Given the description of an element on the screen output the (x, y) to click on. 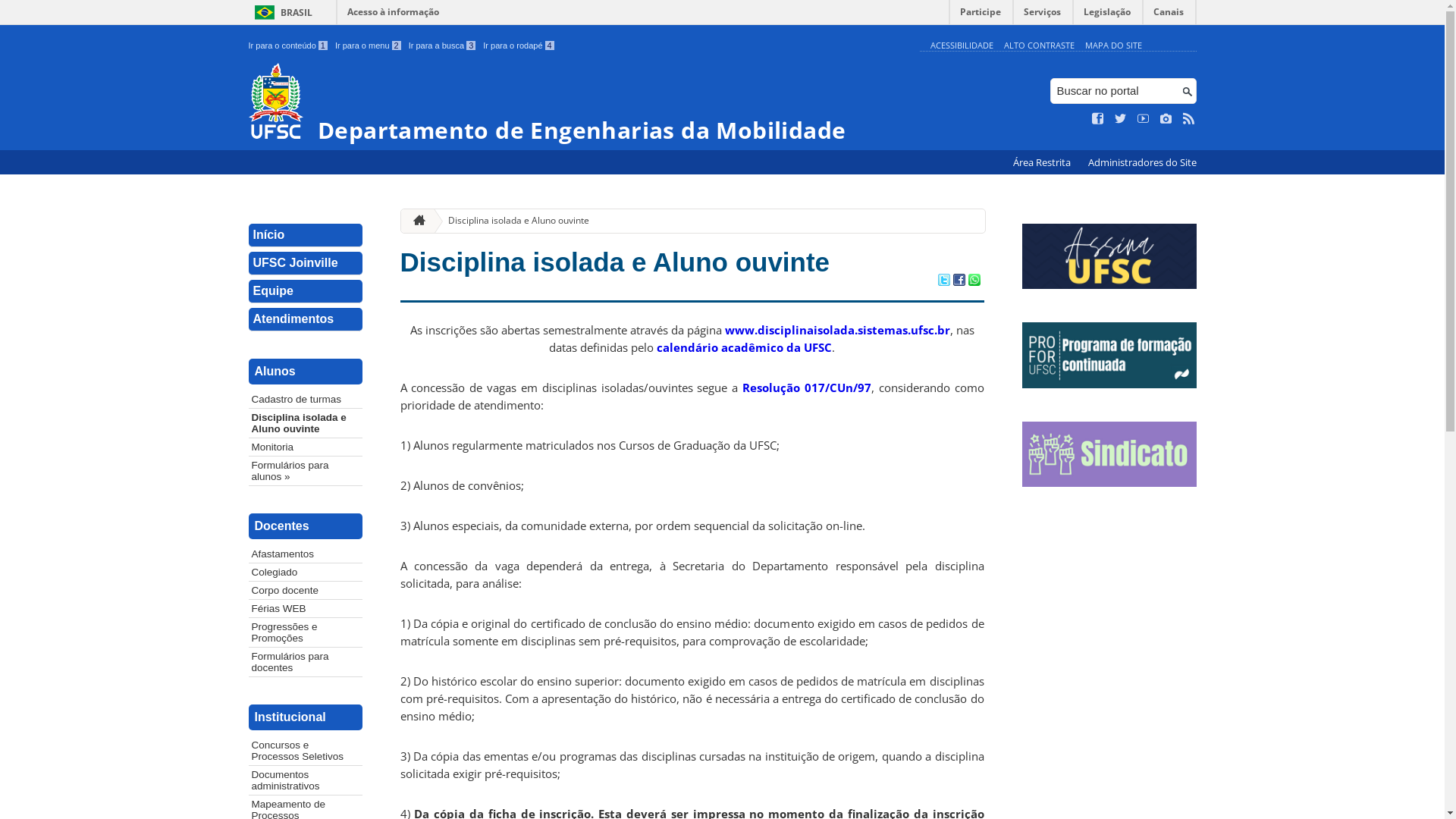
Colegiado Element type: text (305, 571)
Administradores do Site Element type: text (1141, 162)
Atendimentos Element type: text (305, 319)
Disciplina isolada e Aluno ouvinte Element type: text (615, 261)
ALTO CONTRASTE Element type: text (1039, 44)
Participe Element type: text (980, 15)
Ir para a busca 3 Element type: text (442, 45)
Curta no Facebook Element type: hover (1098, 118)
BRASIL Element type: text (280, 12)
UFSC Joinville Element type: text (305, 263)
Compartilhar no Twitter Element type: hover (943, 280)
Compartilhar no WhatsApp Element type: hover (973, 280)
Equipe Element type: text (305, 291)
Canais Element type: text (1169, 15)
Corpo docente Element type: text (305, 590)
Cadastro de turmas Element type: text (305, 398)
Concursos e Processos Seletivos Element type: text (305, 750)
Afastamentos Element type: text (305, 553)
ACESSIBILIDADE Element type: text (960, 44)
Siga no Twitter Element type: hover (1120, 118)
Departamento de Engenharias da Mobilidade Element type: text (580, 102)
MAPA DO SITE Element type: text (1112, 44)
Disciplina isolada e Aluno ouvinte Element type: text (305, 422)
Monitoria Element type: text (305, 446)
Compartilhar no Facebook Element type: hover (958, 280)
Documentos administrativos Element type: text (305, 779)
Ir para o menu 2 Element type: text (368, 45)
www.disciplinaisolada.sistemas.ufsc.br Element type: text (837, 329)
Disciplina isolada e Aluno ouvinte Element type: text (512, 220)
Veja no Instagram Element type: hover (1166, 118)
